Given the description of an element on the screen output the (x, y) to click on. 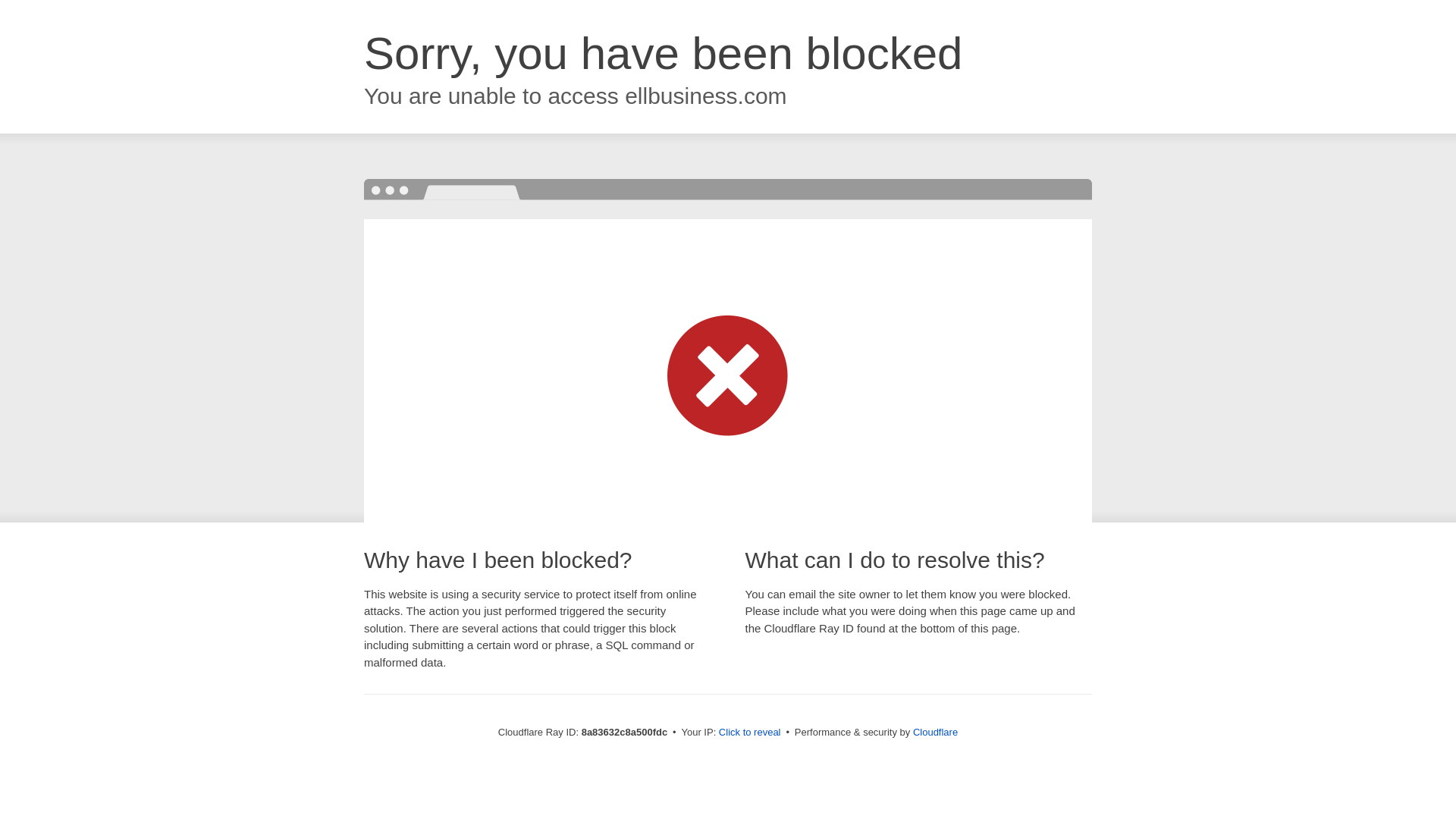
Cloudflare (935, 731)
Click to reveal (749, 732)
